Given the description of an element on the screen output the (x, y) to click on. 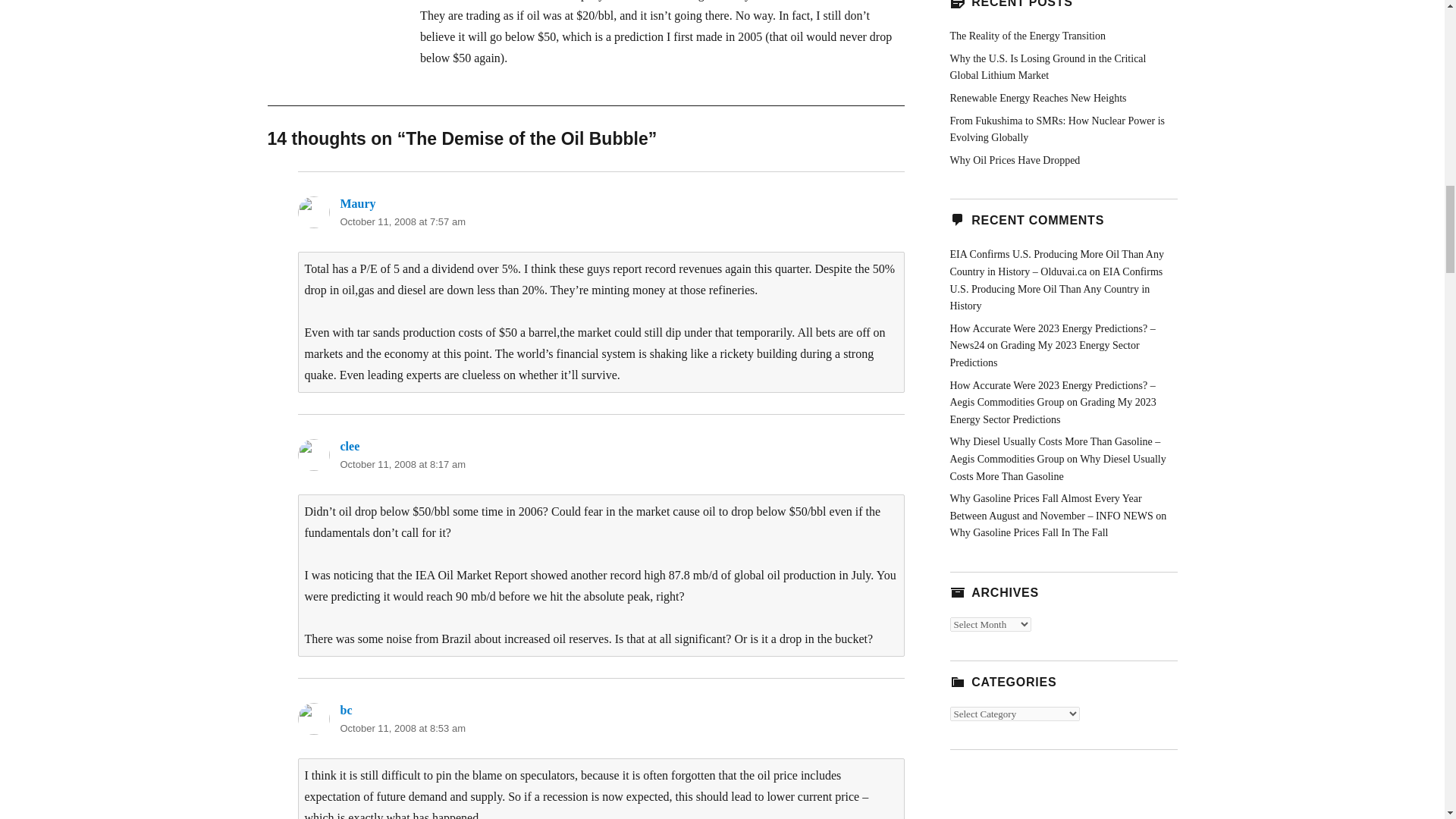
clee (349, 445)
October 11, 2008 at 7:57 am (402, 221)
bc (345, 709)
October 11, 2008 at 8:53 am (402, 727)
October 11, 2008 at 8:17 am (402, 464)
Maury (357, 203)
